Given the description of an element on the screen output the (x, y) to click on. 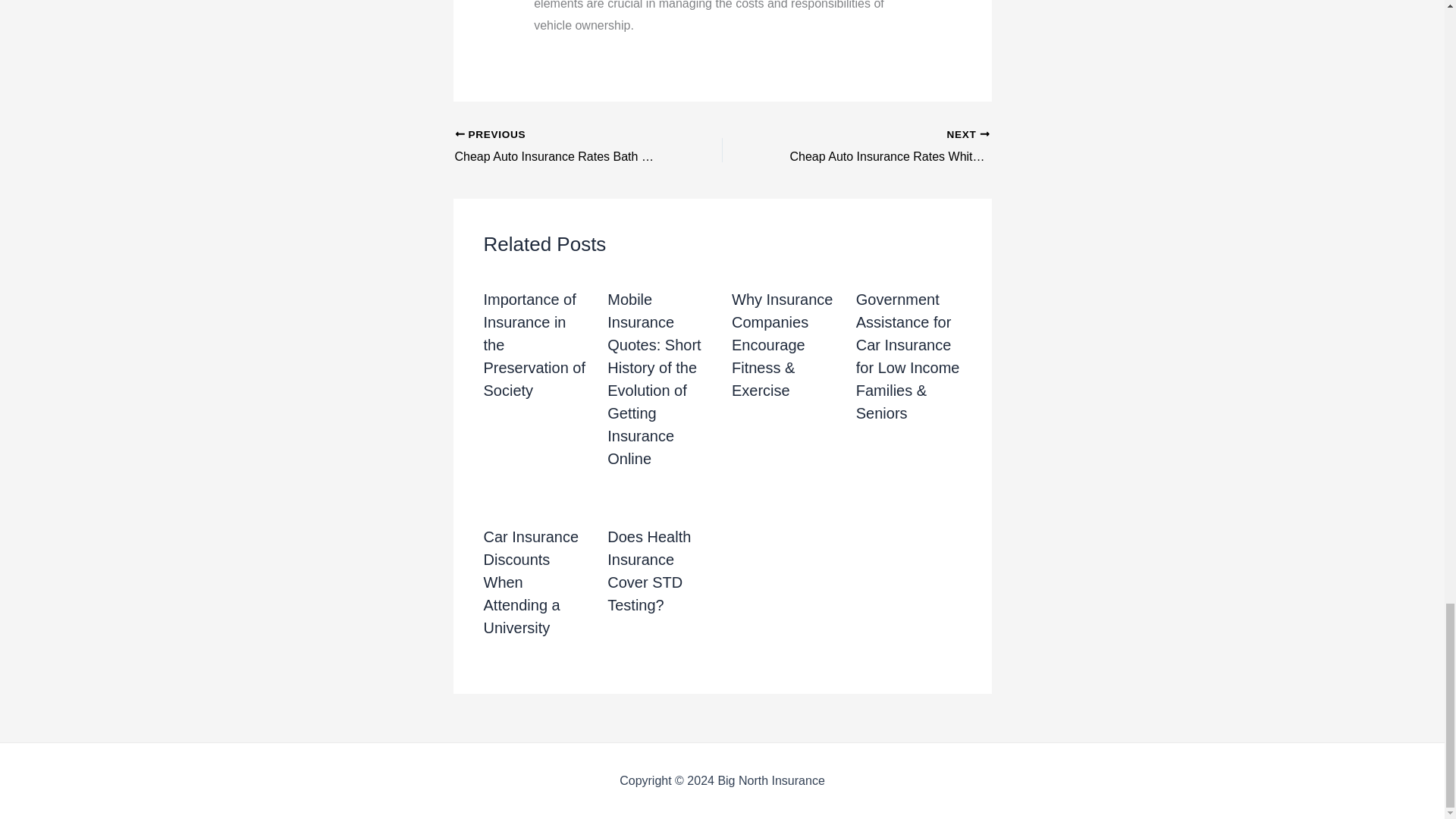
Does Health Insurance Cover STD Testing? (648, 570)
Importance of Insurance in the Preservation of Society (534, 344)
Cheap Auto Insurance Rates Bath ME (561, 147)
Cheap Auto Insurance Rates Whitehouse TX (882, 147)
